Given the description of an element on the screen output the (x, y) to click on. 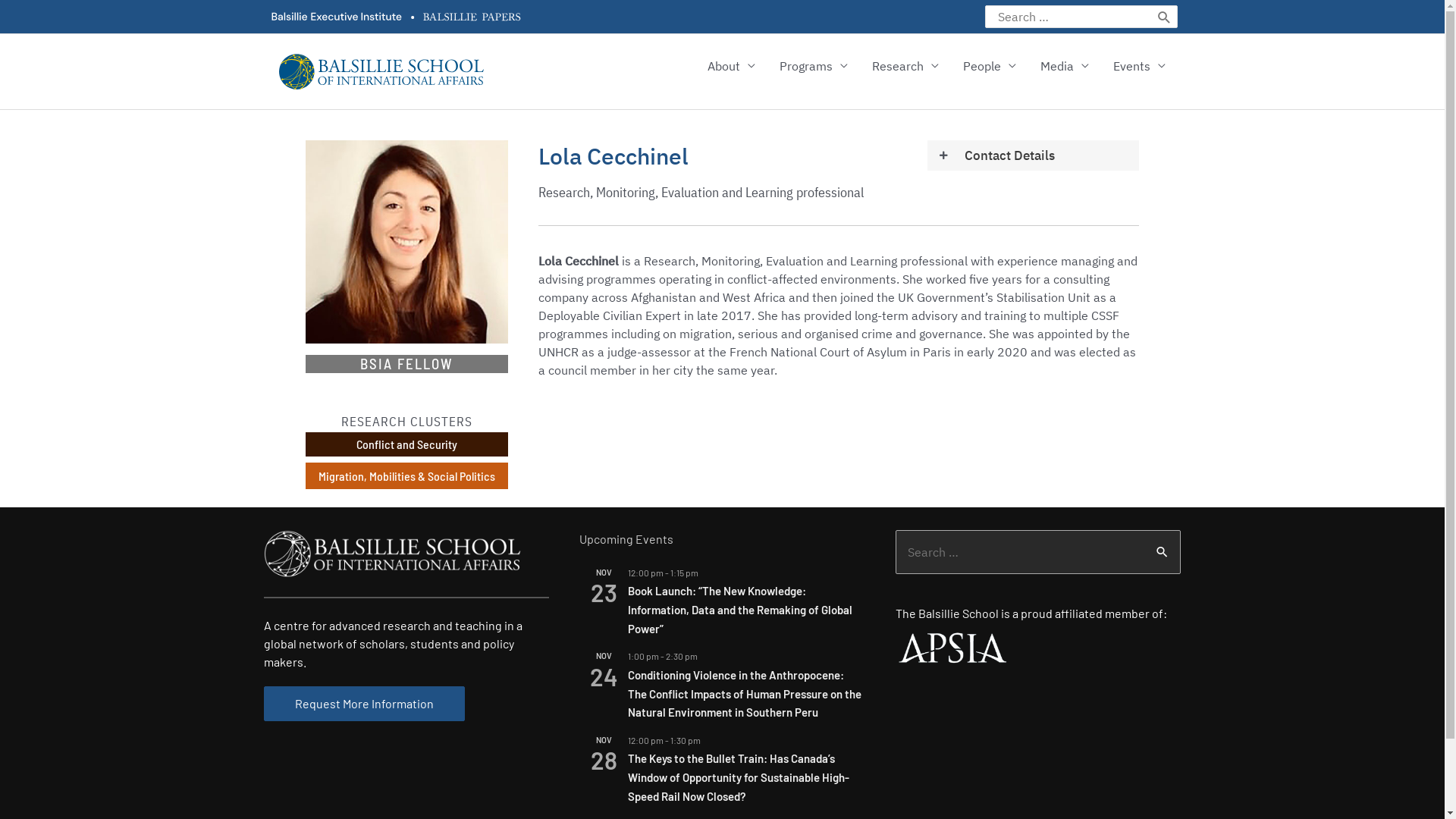
People Element type: text (989, 65)
Search Element type: text (1164, 16)
Request More Information Element type: text (363, 703)
Events Element type: text (1139, 65)
About Element type: text (730, 65)
Research Element type: text (904, 65)
Programs Element type: text (813, 65)
Migration, Mobilities & Social Politics Element type: text (406, 475)
Conflict and Security Element type: text (406, 443)
Request More Information Element type: text (363, 703)
Lola-Cecchinel-400x400-1 Element type: hover (406, 241)
Search Element type: text (1163, 551)
Media Element type: text (1064, 65)
